Given the description of an element on the screen output the (x, y) to click on. 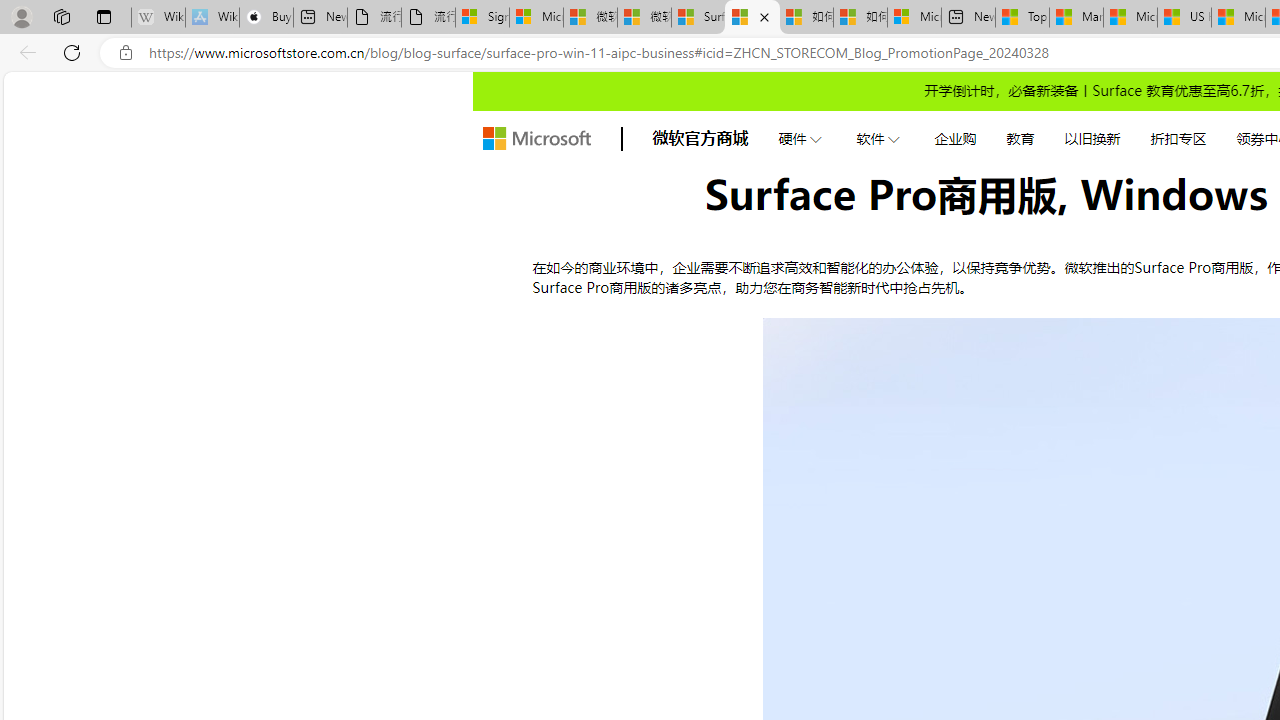
Microsoft account | Account Checkup (914, 17)
Marine life - MSN (1076, 17)
Top Stories - MSN (1022, 17)
